Given the description of an element on the screen output the (x, y) to click on. 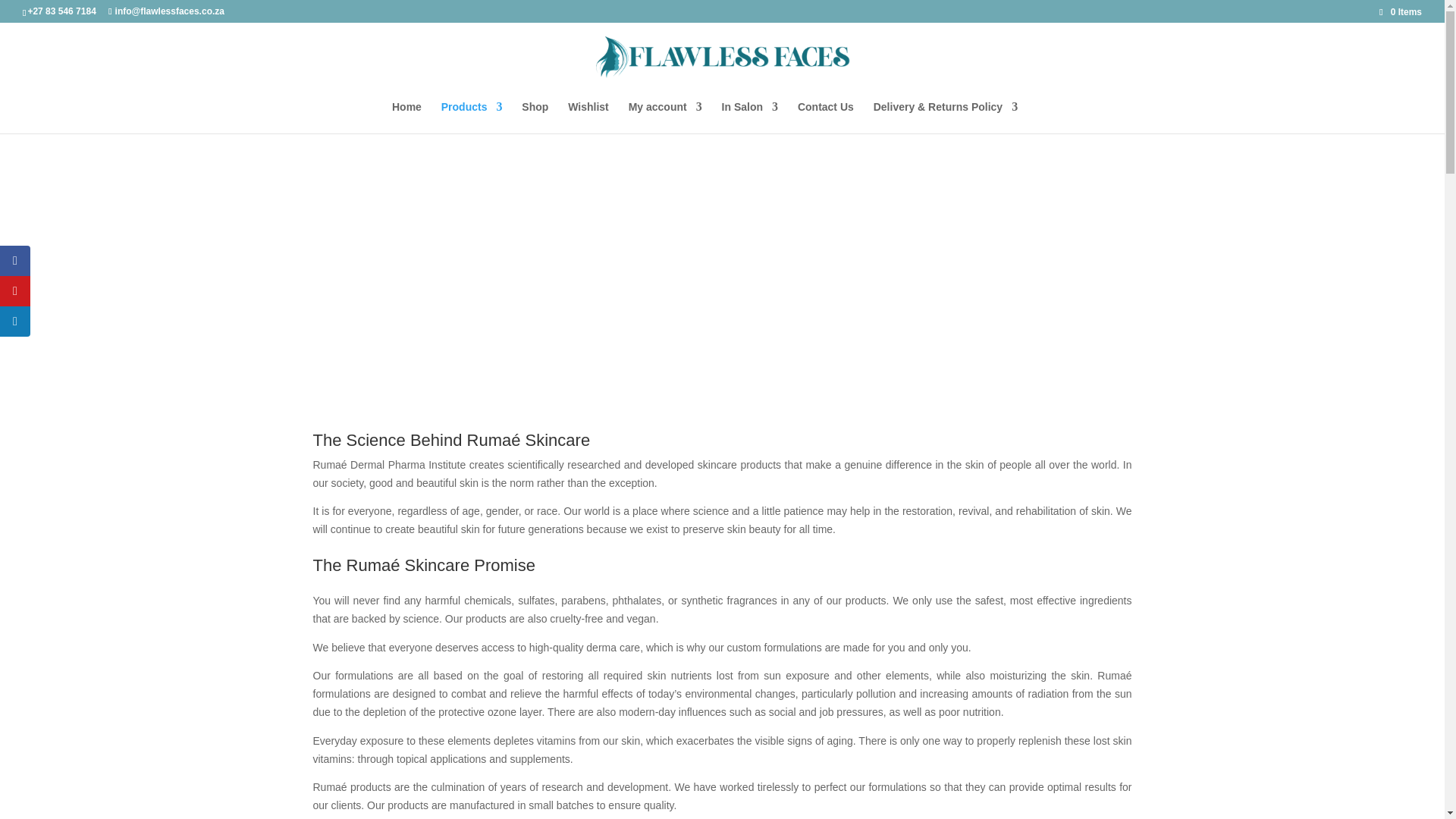
Wishlist (587, 117)
Products (471, 117)
Home (406, 117)
In Salon (749, 117)
My account (664, 117)
Contact Us (825, 117)
0 Items (1400, 11)
